Given the description of an element on the screen output the (x, y) to click on. 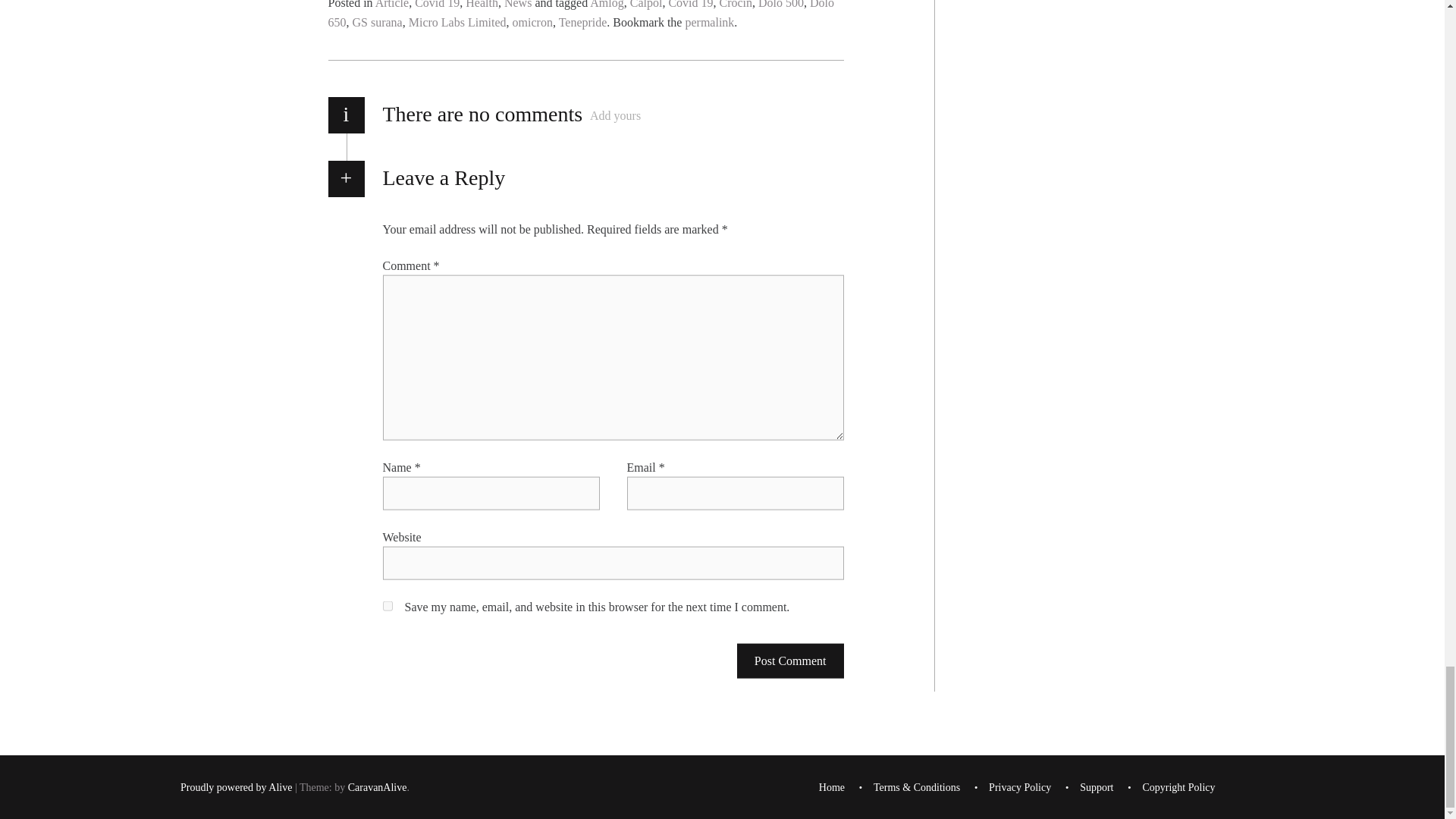
Health (481, 4)
Dolo 500 (780, 4)
Calpol (646, 4)
Amlog (606, 4)
Post Comment (790, 660)
Covid 19 (690, 4)
yes (386, 605)
Dolo 650 (580, 14)
Tenepride (583, 21)
omicron (532, 21)
Post Comment (790, 660)
permalink (708, 21)
Micro Labs Limited (457, 21)
Crocin (735, 4)
Covid 19 (437, 4)
